Given the description of an element on the screen output the (x, y) to click on. 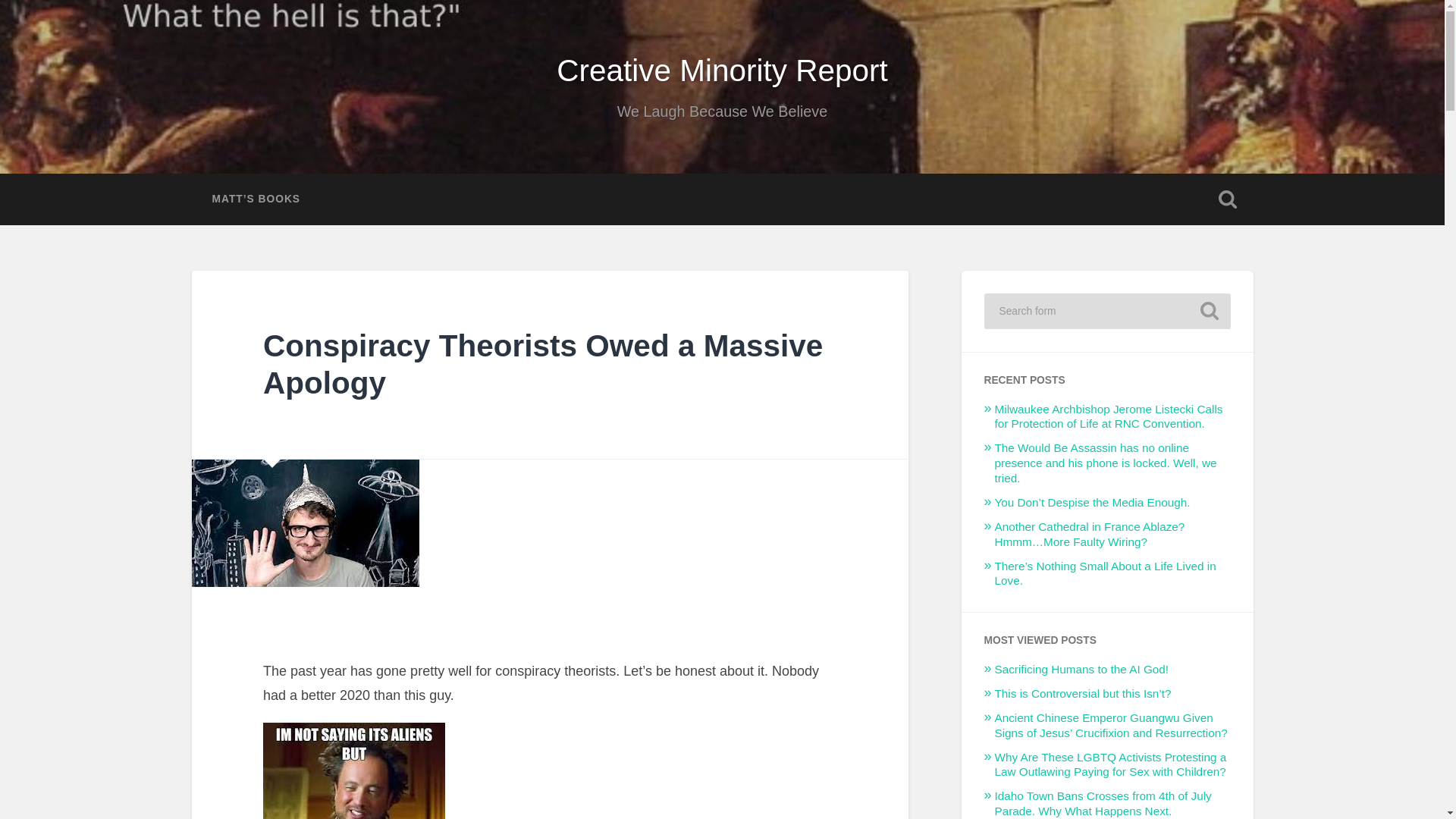
Conspiracy Theorists Owed a Massive Apology (542, 364)
Search (1209, 310)
Creative Minority Report (722, 70)
Search (1209, 310)
Search (1209, 310)
Sacrificing Humans to the AI God! (1081, 668)
